Given the description of an element on the screen output the (x, y) to click on. 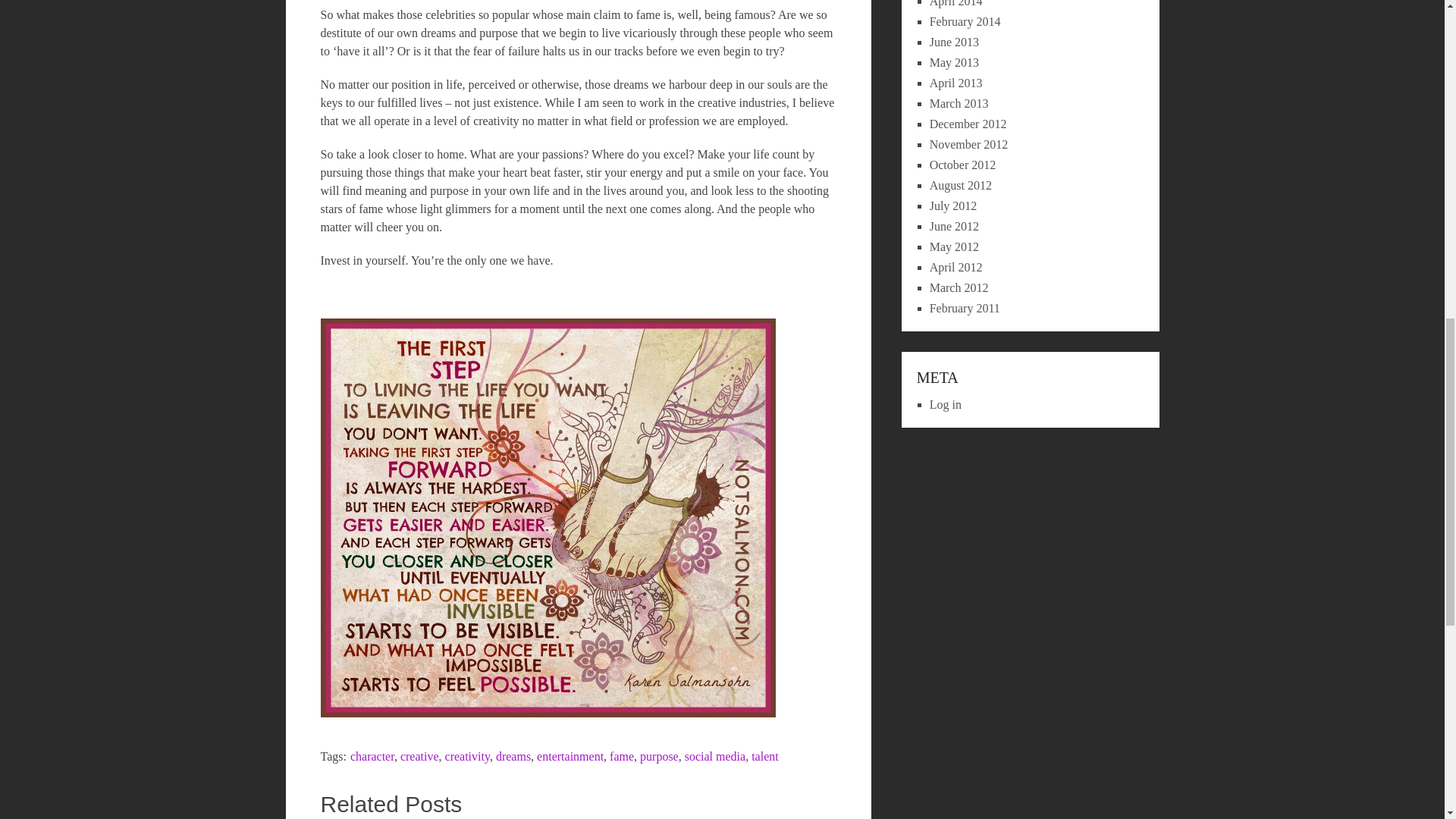
fame (621, 756)
social media (714, 756)
character (372, 756)
May 2013 (954, 62)
creativity (467, 756)
April 2014 (956, 3)
February 2014 (965, 21)
April 2013 (956, 82)
purpose (659, 756)
talent (764, 756)
